Given the description of an element on the screen output the (x, y) to click on. 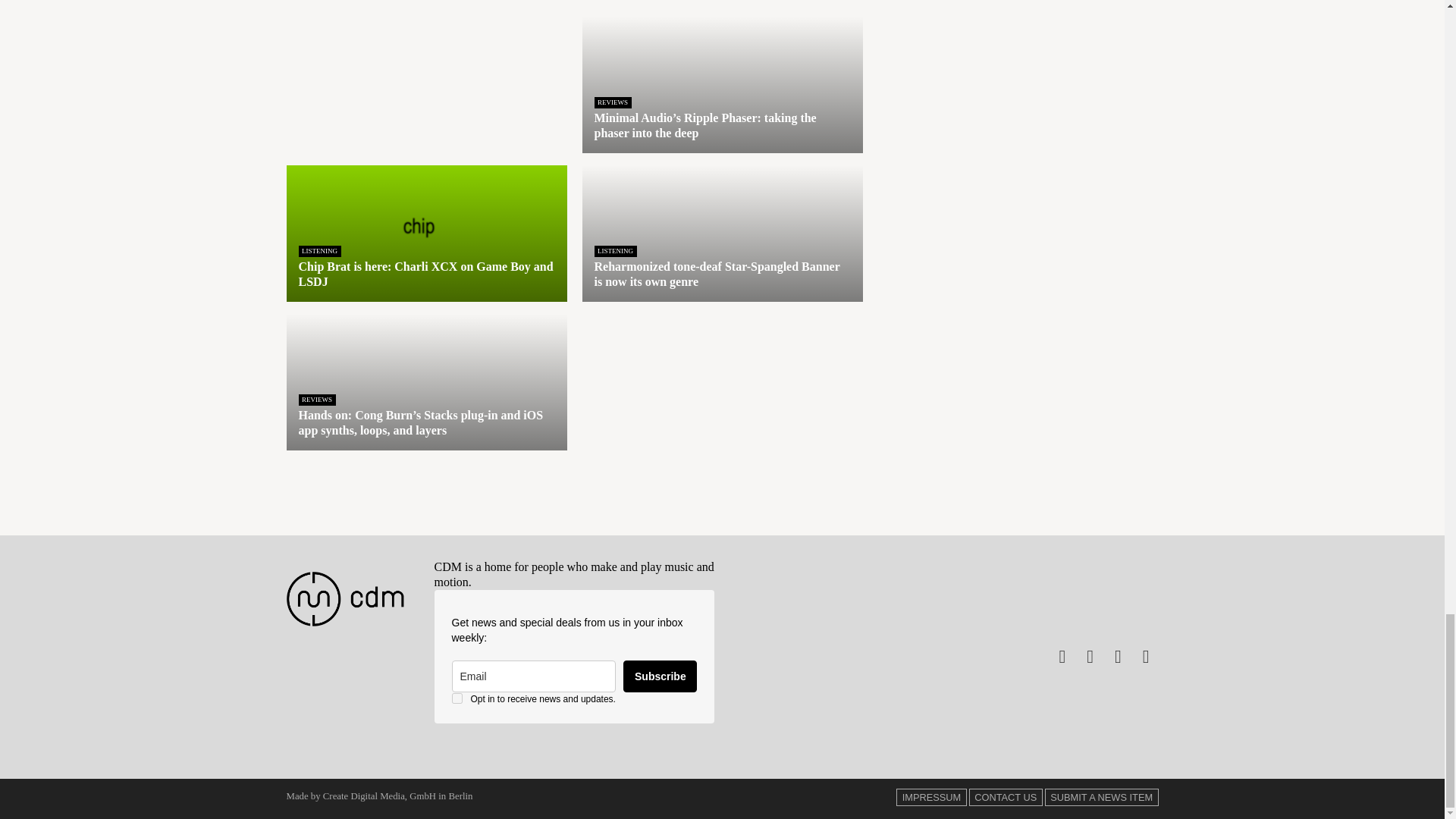
on (457, 697)
